Given the description of an element on the screen output the (x, y) to click on. 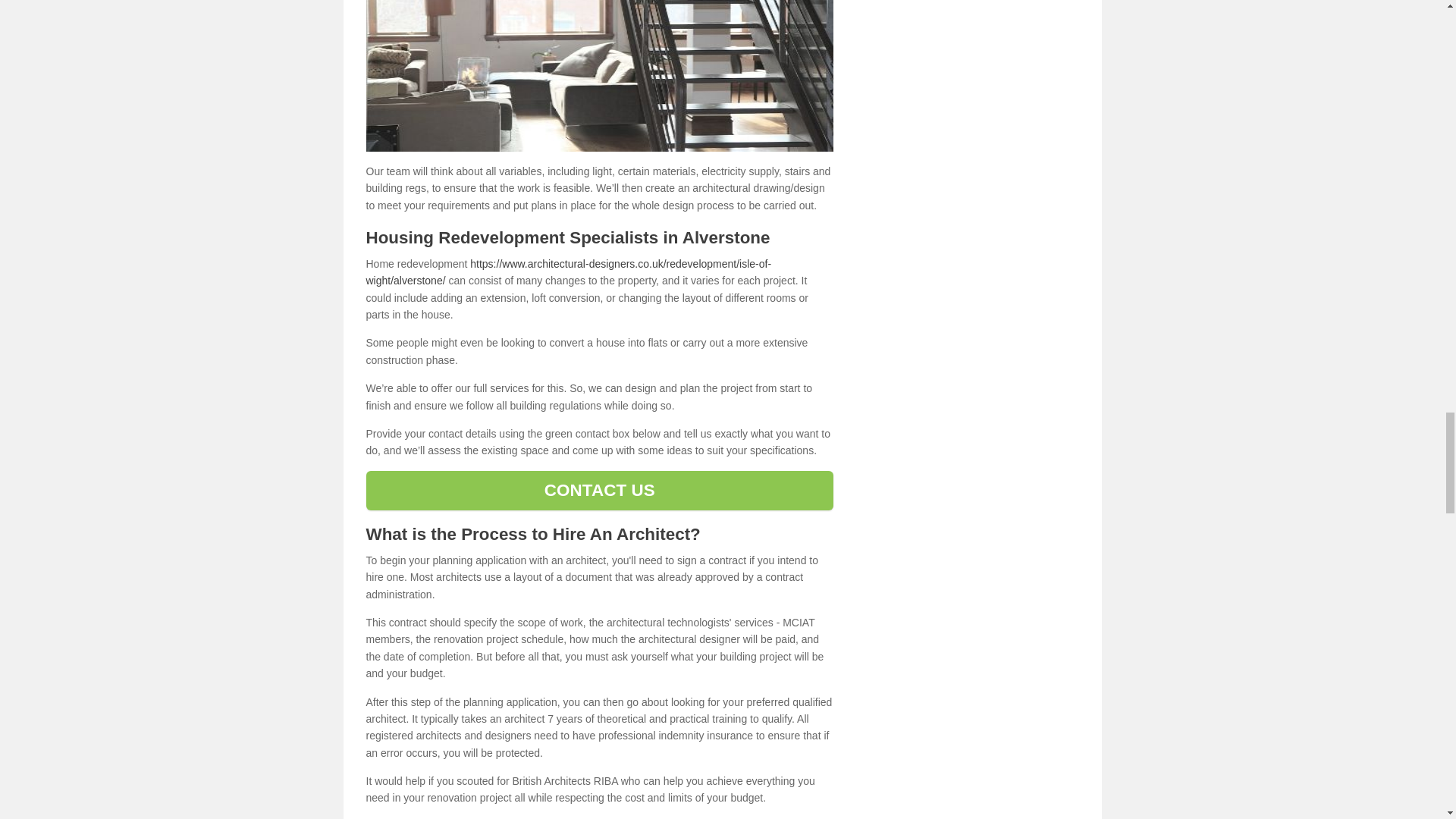
Home (598, 75)
